Given the description of an element on the screen output the (x, y) to click on. 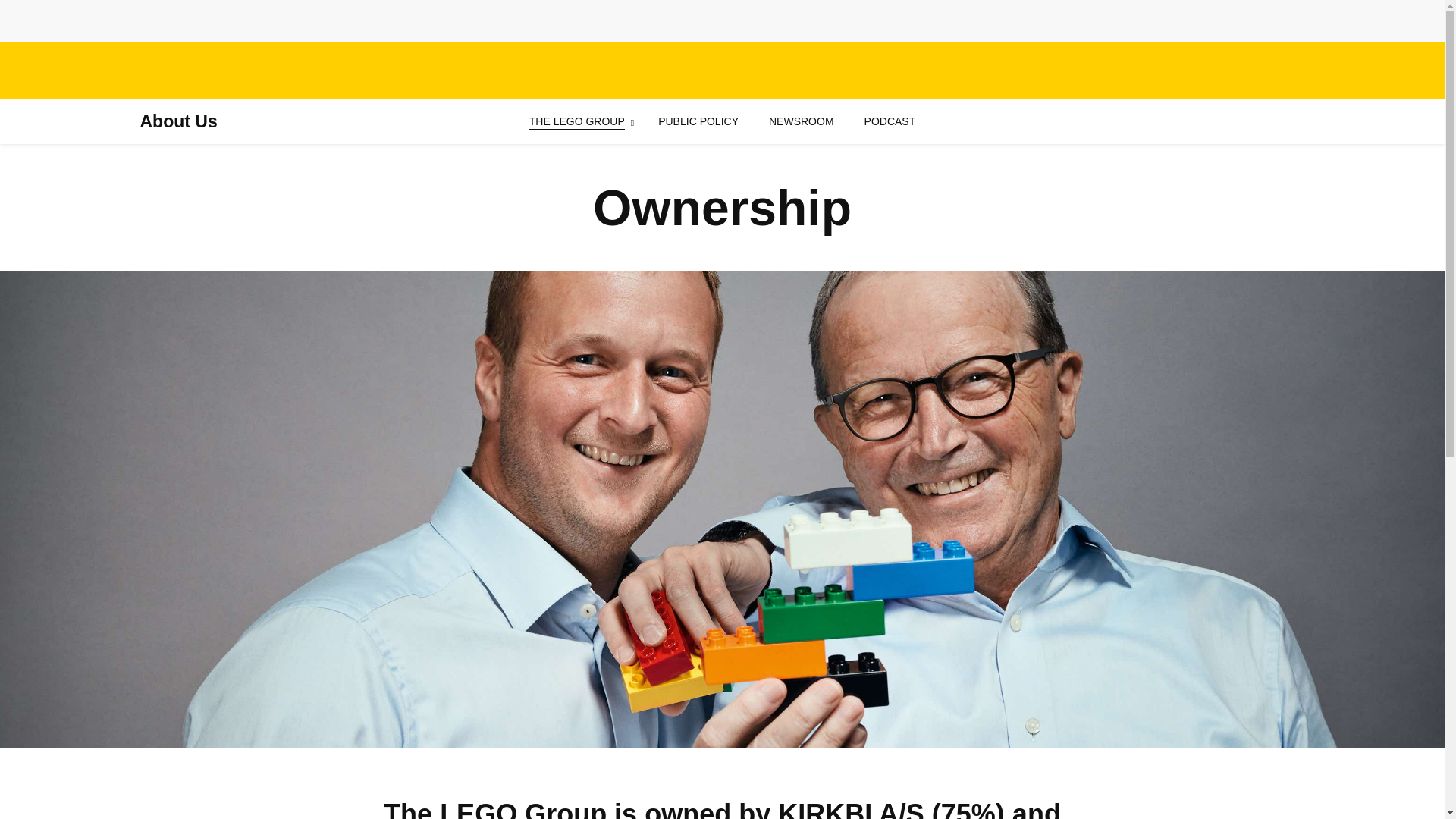
PUBLIC POLICY (698, 121)
About Us (177, 120)
THE LEGO GROUP (576, 121)
PODCAST (889, 121)
NEWSROOM (801, 121)
